Given the description of an element on the screen output the (x, y) to click on. 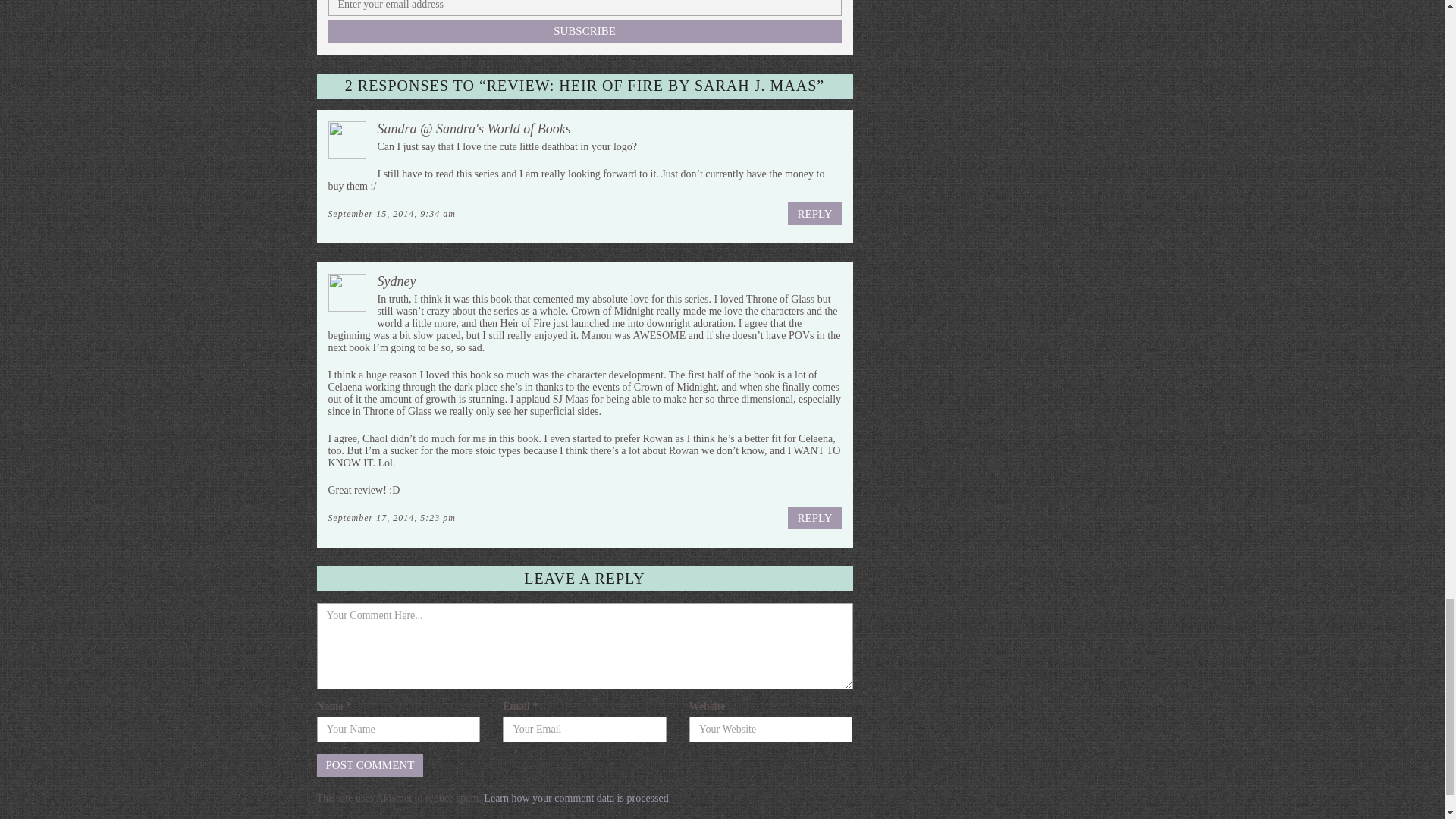
Post Comment (370, 765)
Subscribe (584, 31)
